Given the description of an element on the screen output the (x, y) to click on. 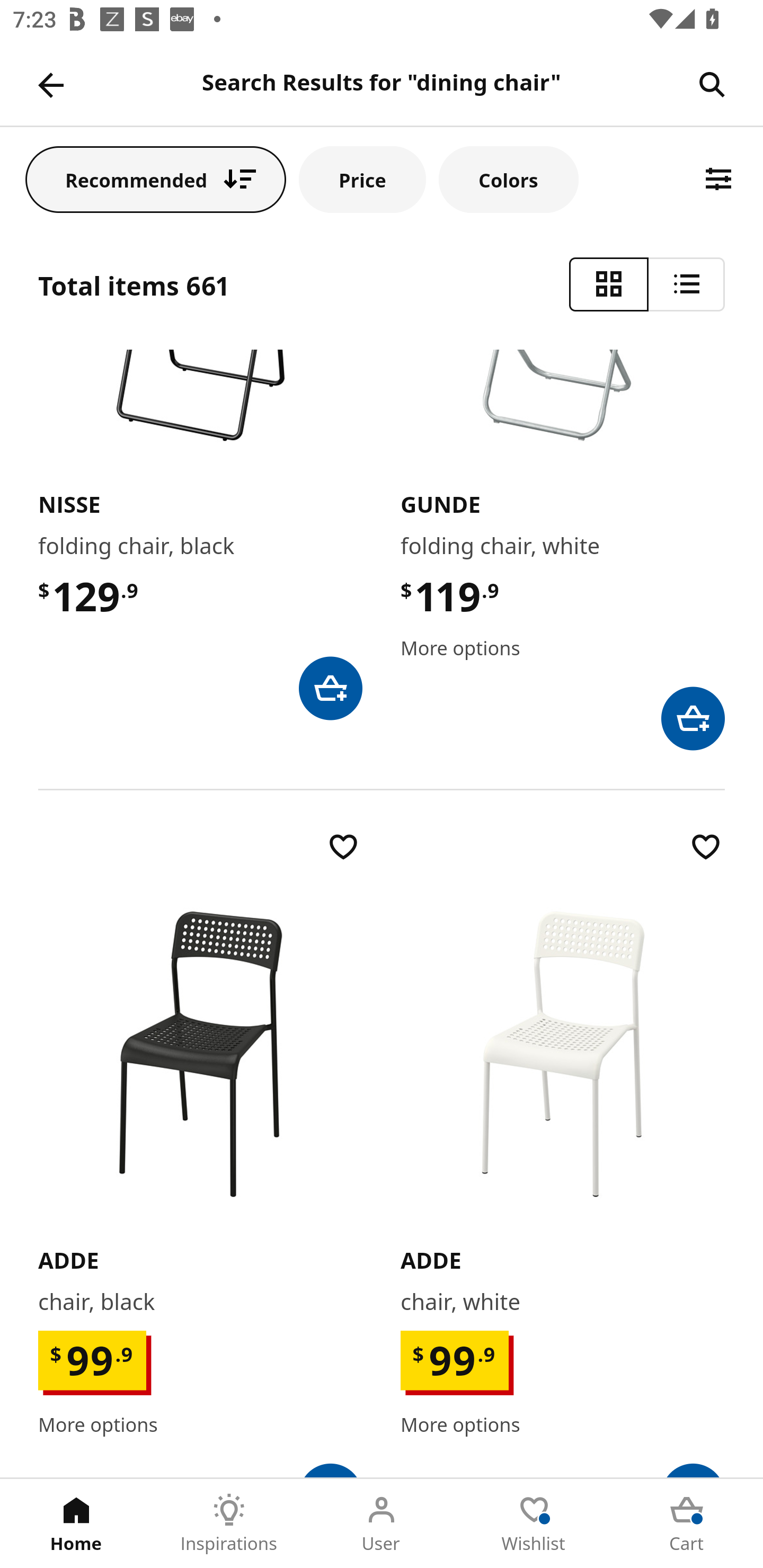
Recommended (155, 179)
Price (362, 179)
Colors (508, 179)
​N​I​S​S​E​
folding chair, black
$
129
.9 (200, 534)
​A​D​D​E​
chair, black
$
99
.9
More options (200, 1152)
​A​D​D​E​
chair, white
$
99
.9
More options (562, 1152)
Home
Tab 1 of 5 (76, 1522)
Inspirations
Tab 2 of 5 (228, 1522)
User
Tab 3 of 5 (381, 1522)
Wishlist
Tab 4 of 5 (533, 1522)
Cart
Tab 5 of 5 (686, 1522)
